Given the description of an element on the screen output the (x, y) to click on. 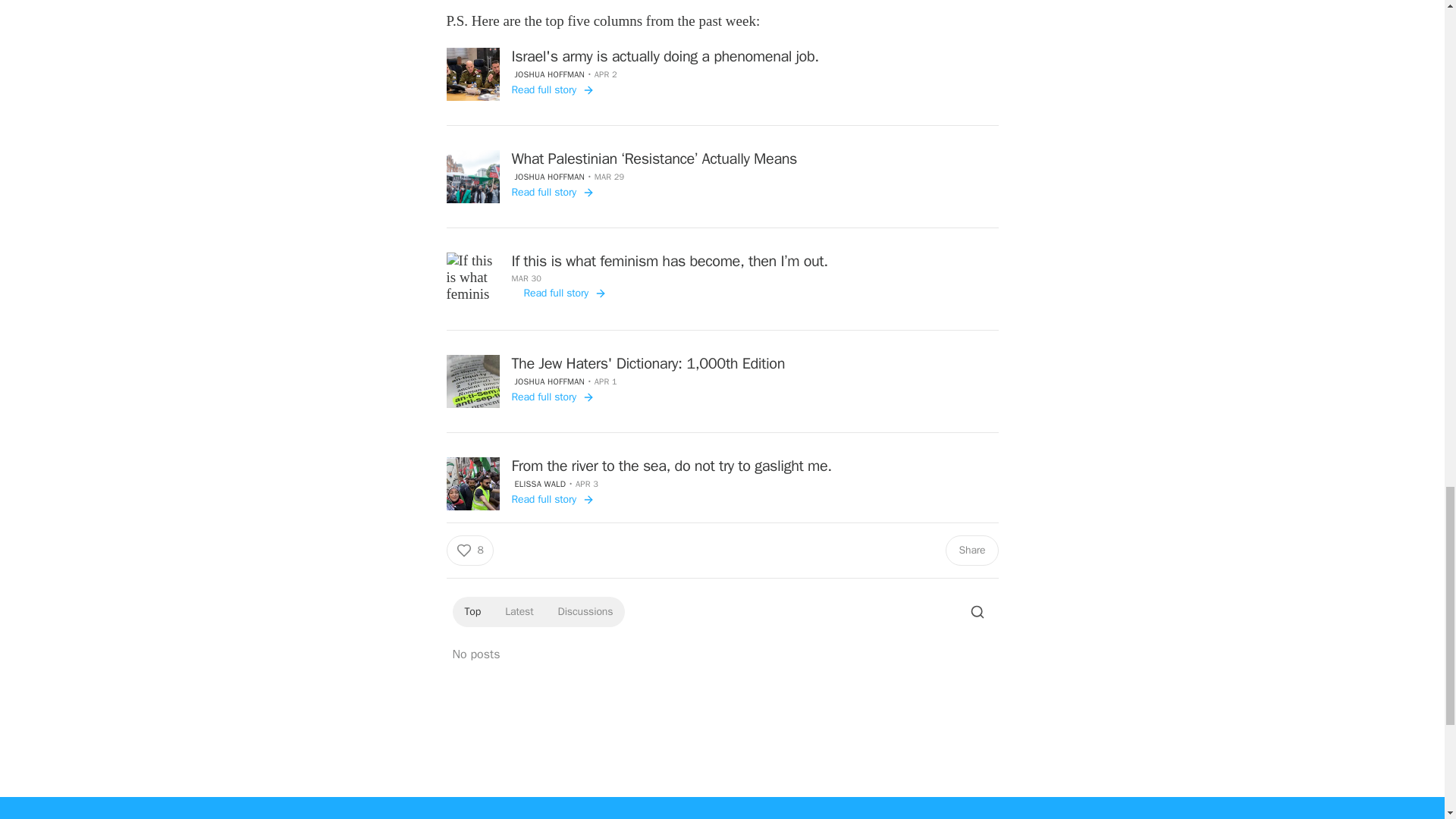
Read full story (552, 89)
JOSHUA HOFFMAN (548, 73)
JOSHUA HOFFMAN (548, 176)
Israel's army is actually doing a phenomenal job. (664, 56)
